Given the description of an element on the screen output the (x, y) to click on. 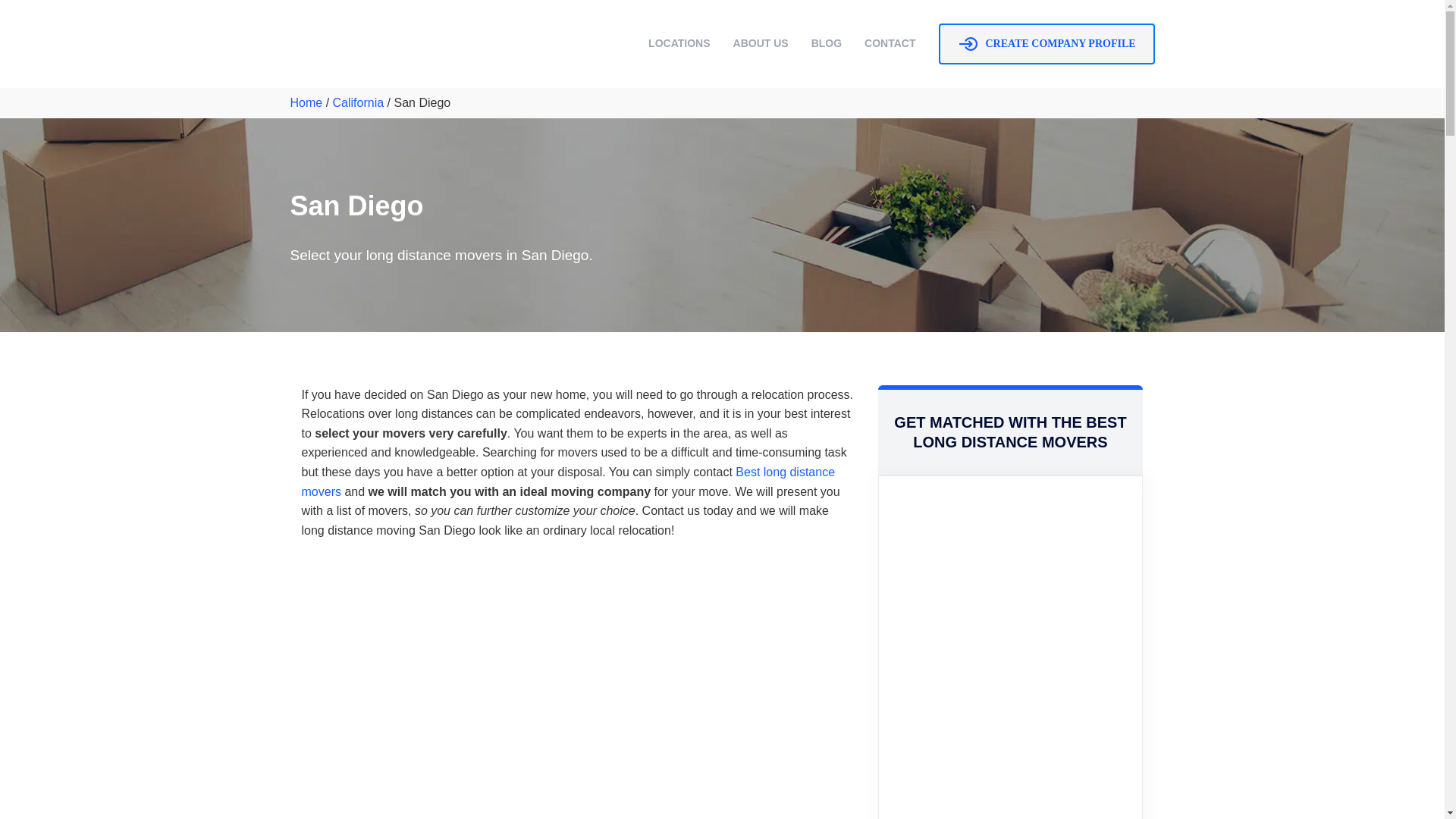
LOCATIONS (678, 42)
CREATE COMPANY PROFILE (1046, 43)
California (358, 102)
BLOG (825, 42)
Best long distance movers (568, 481)
ABOUT US (761, 42)
Home (305, 102)
CONTACT (889, 42)
